Given the description of an element on the screen output the (x, y) to click on. 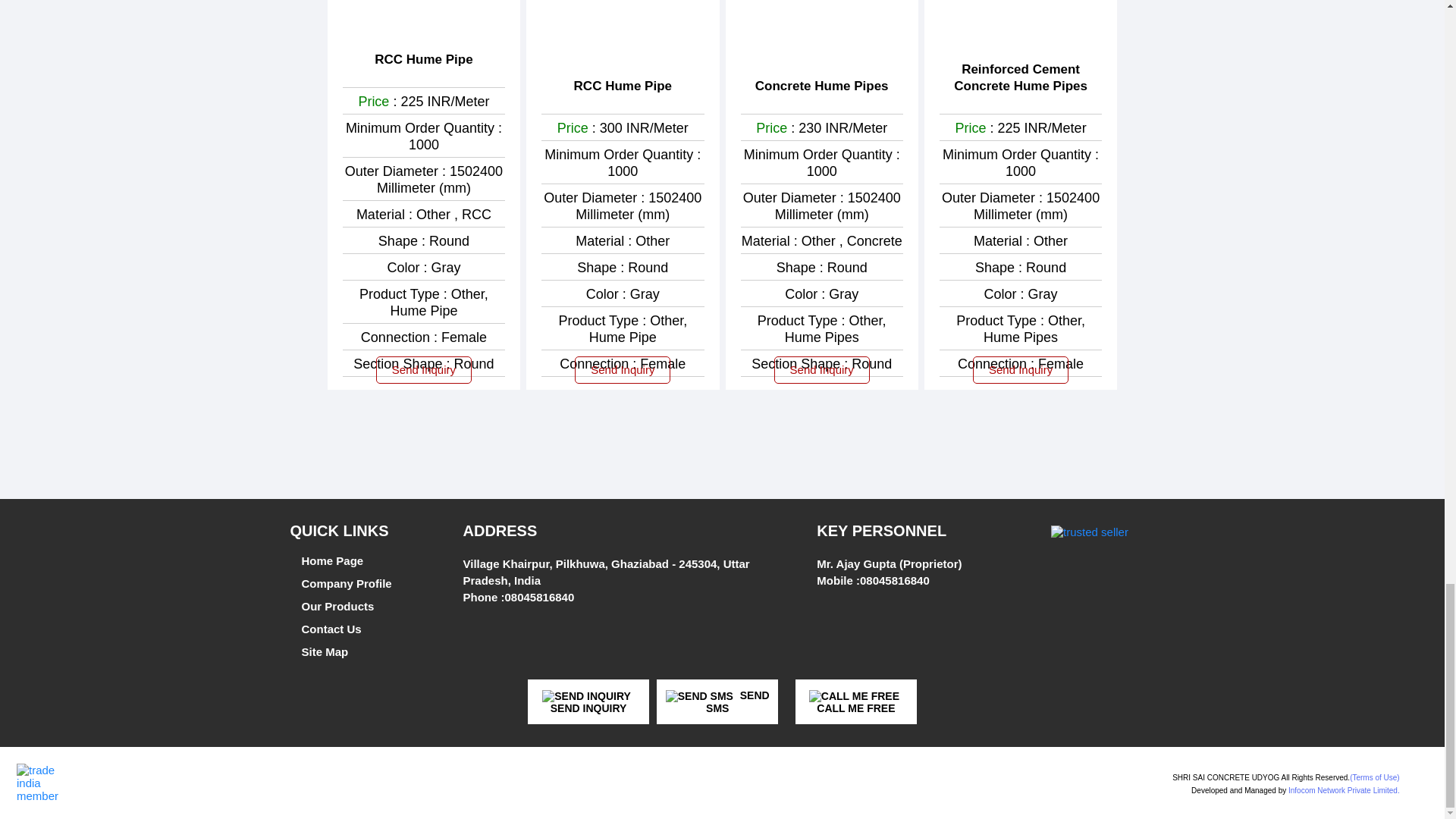
Send Inquiry (622, 370)
Send Inquiry (821, 370)
Call Me Free (854, 695)
Concrete Hume Pipes (821, 86)
Send SMS (699, 695)
Reinforced Cement Concrete Hume Pipes (1020, 78)
Send Inquiry (585, 695)
Send Inquiry (1020, 370)
Send Inquiry (423, 370)
RCC Hume Pipe (622, 86)
RCC Hume Pipe (422, 59)
